Given the description of an element on the screen output the (x, y) to click on. 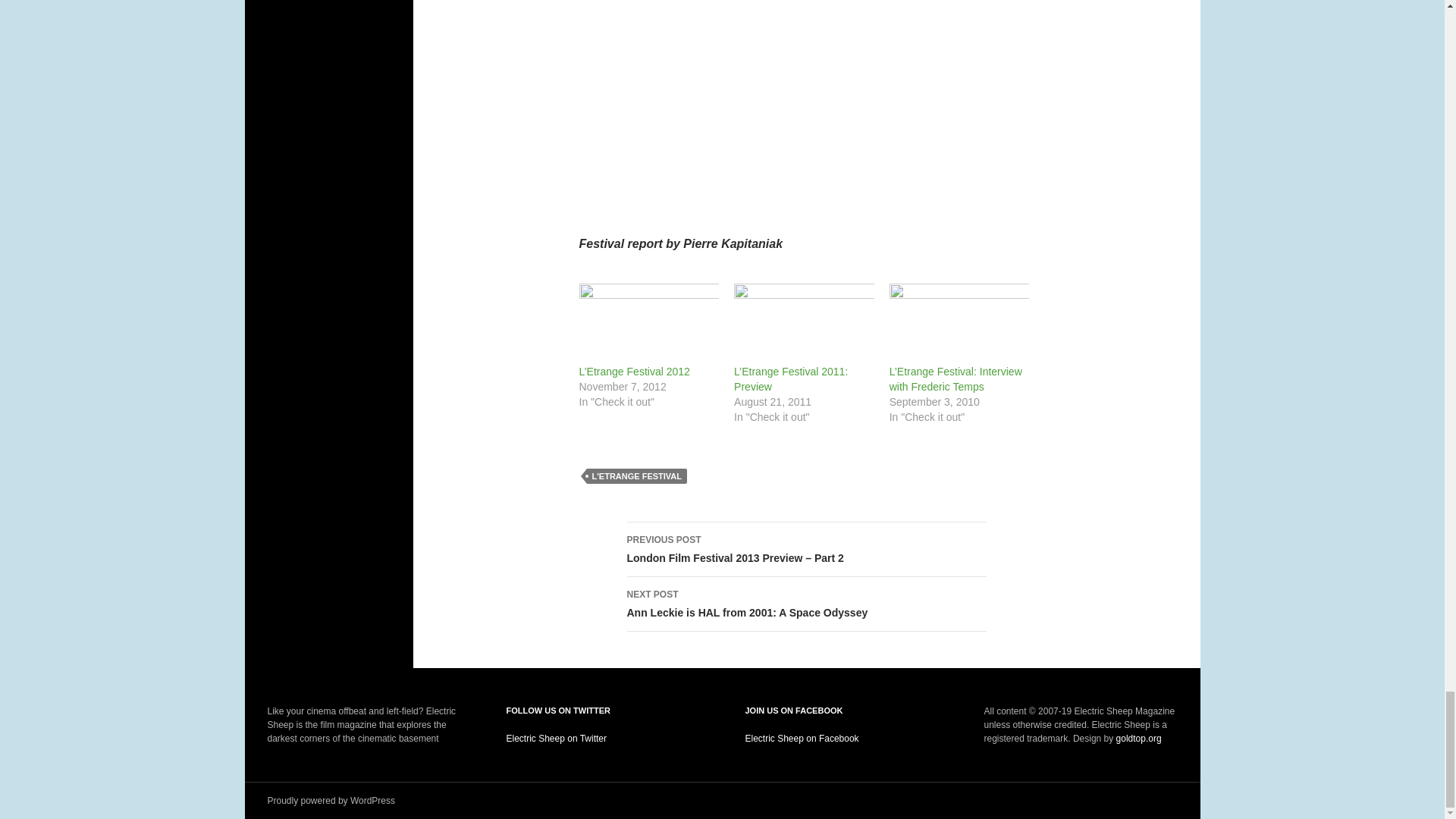
L'ETRANGE FESTIVAL (805, 604)
